Given the description of an element on the screen output the (x, y) to click on. 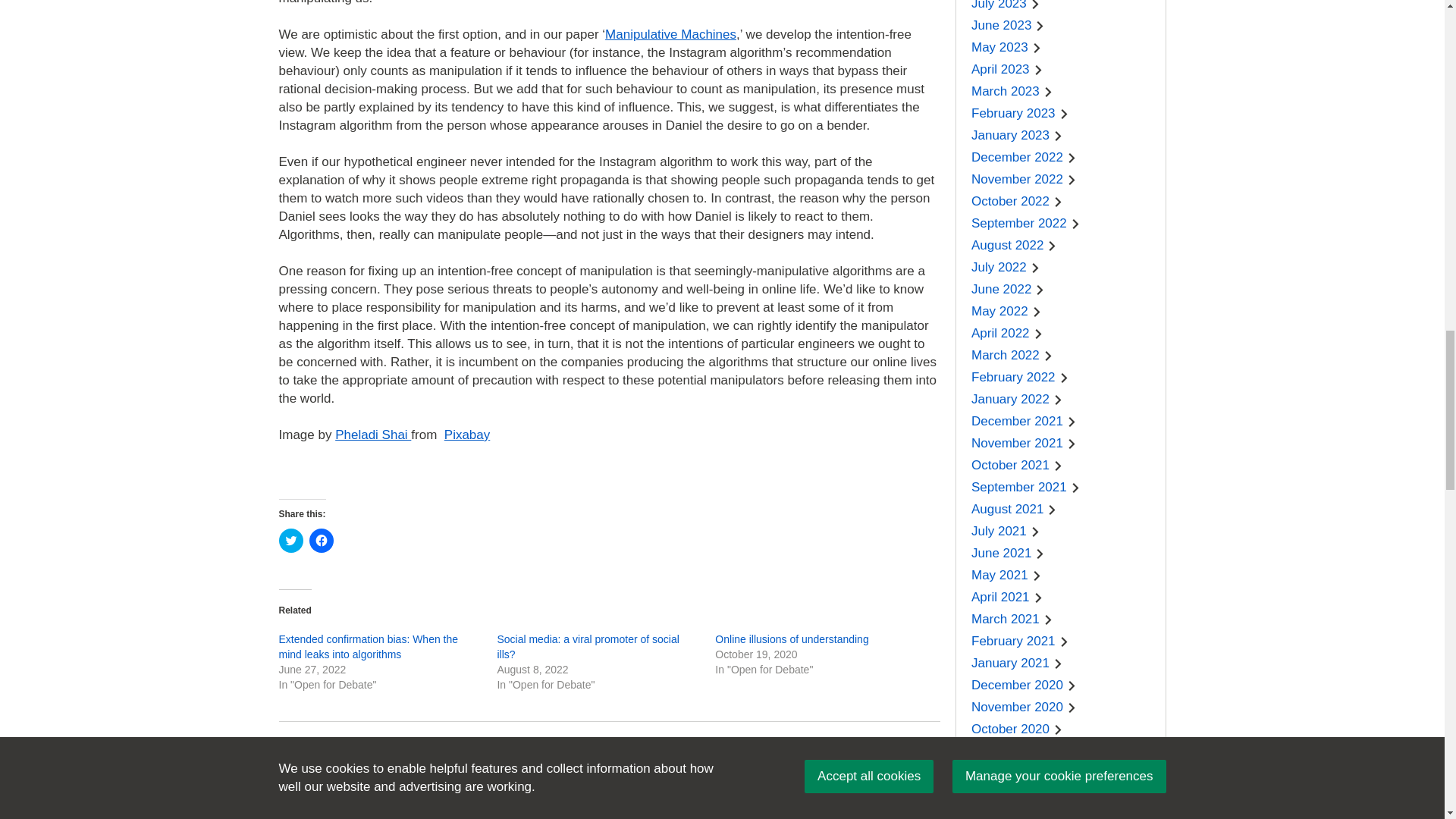
Social media: a viral promoter of social ills? (587, 646)
Click to share on Twitter (290, 540)
Online illusions of understanding (790, 639)
Click to share on Facebook (320, 540)
